Given the description of an element on the screen output the (x, y) to click on. 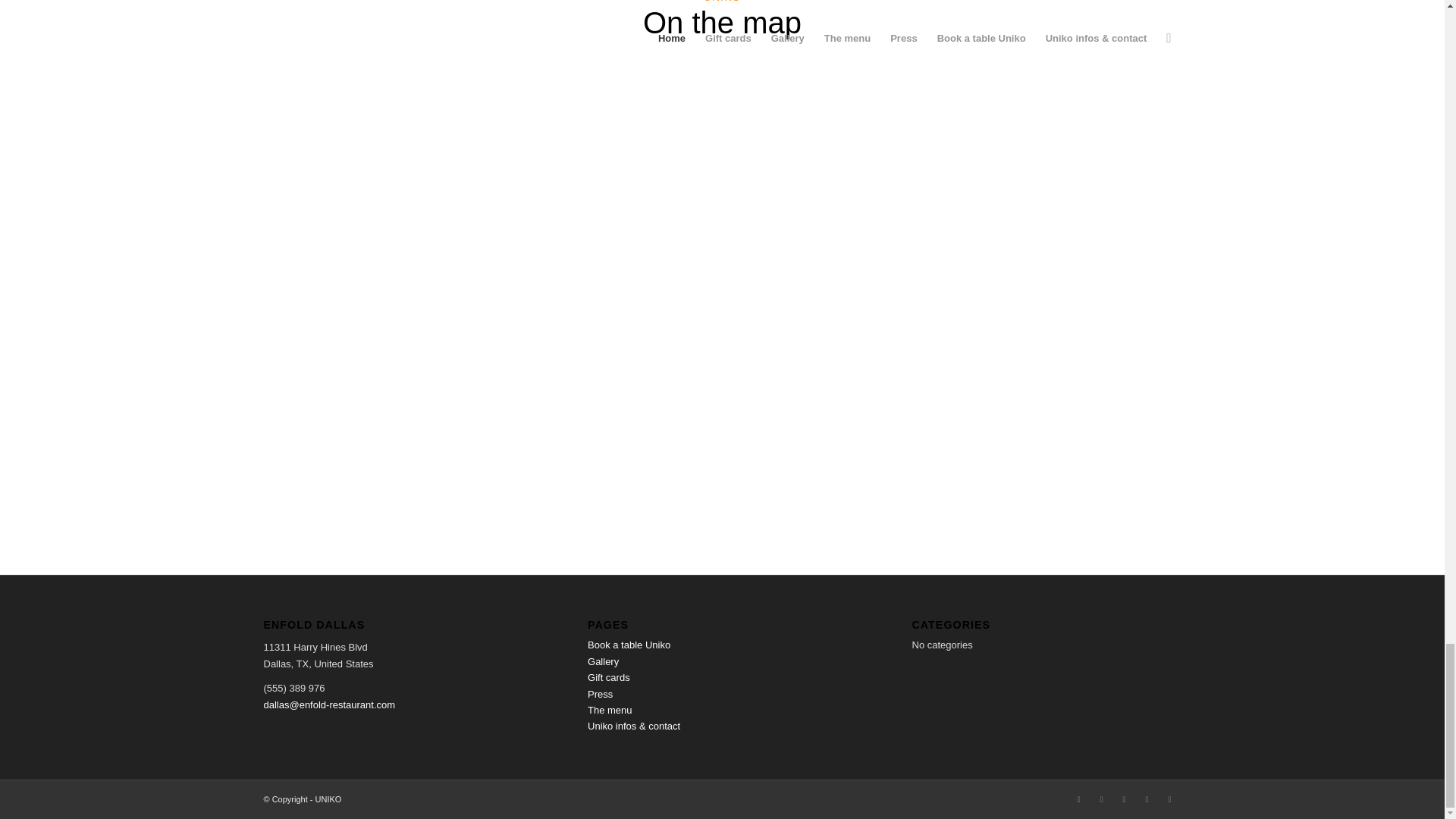
Book a table Uniko (628, 644)
Gallery (603, 661)
Gift cards (609, 677)
The menu (609, 709)
Press (600, 694)
